Given the description of an element on the screen output the (x, y) to click on. 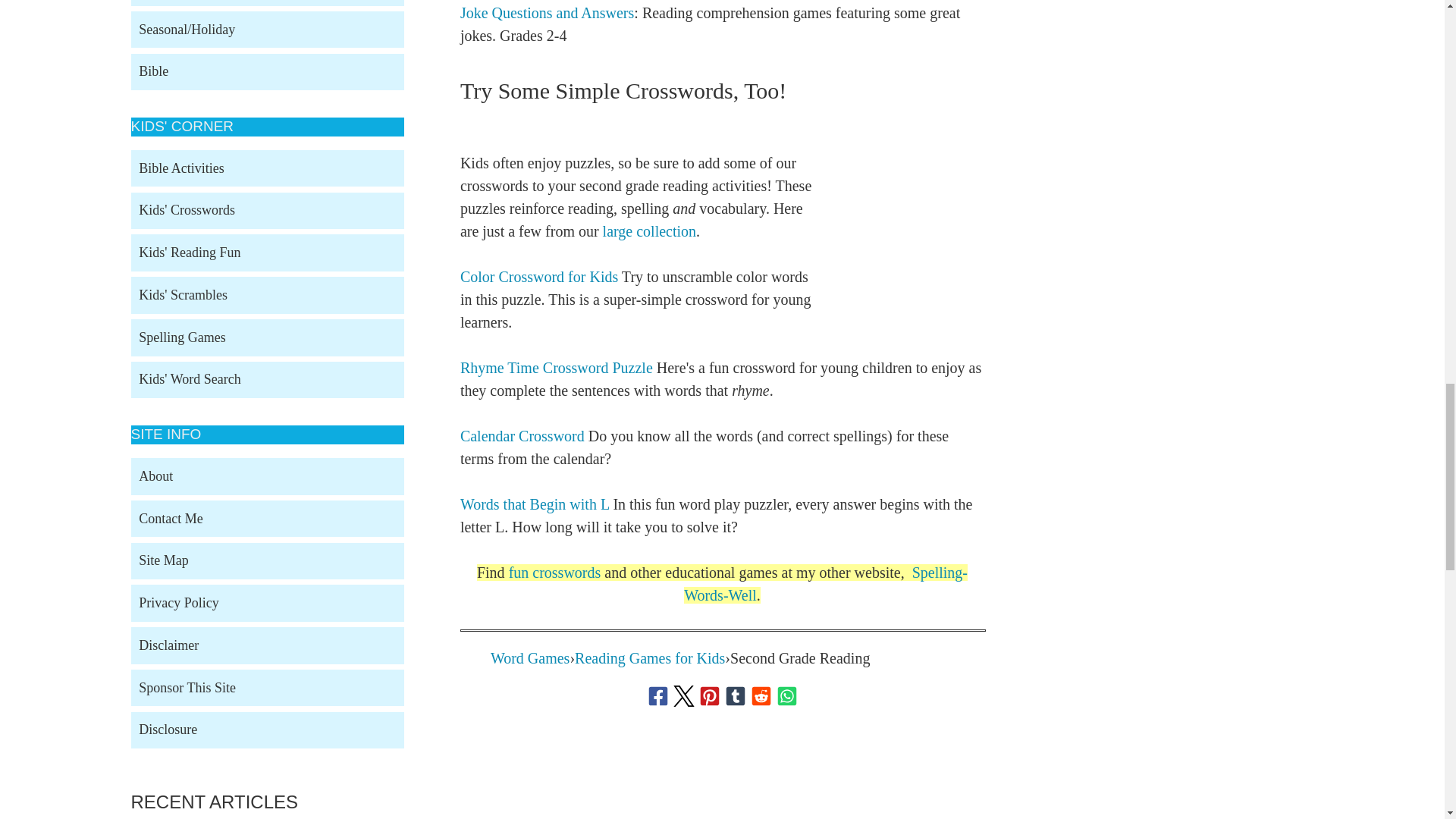
Word Games (529, 658)
fun crosswords (554, 572)
Color Crossword for Kids (538, 276)
Words that Begin with L (535, 504)
large collection (648, 230)
child's hand, writing in a crossword puzzle (912, 222)
Calendar Crossword (522, 435)
Rhyme Time Crossword Puzzle (556, 367)
Reading Games for Kids (650, 658)
